Given the description of an element on the screen output the (x, y) to click on. 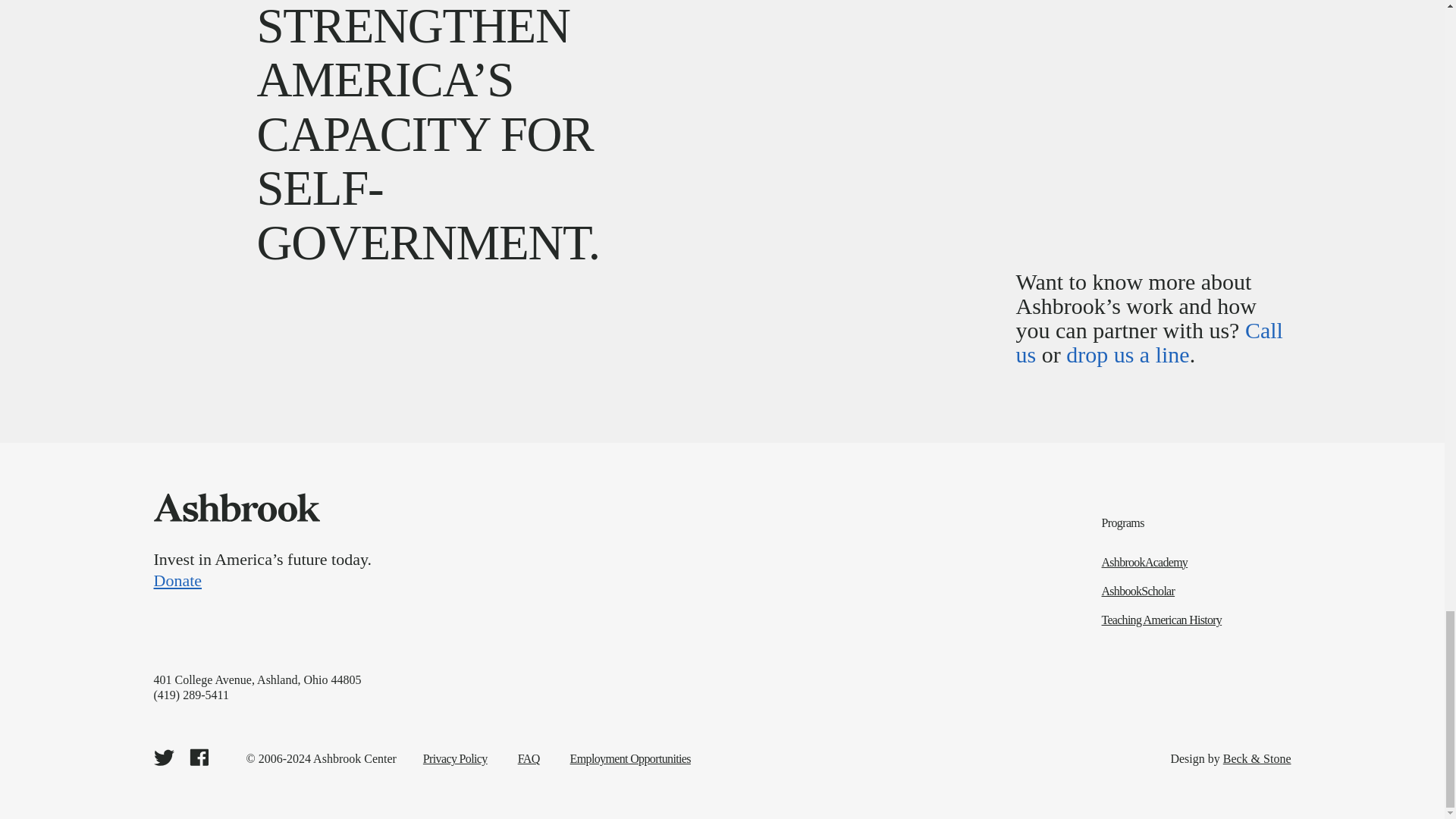
AshbookScholar (1196, 590)
FAQ (529, 758)
Call us (1149, 341)
Ashbrook Center (235, 507)
drop us a line (1127, 354)
AshbrookAcademy (1196, 562)
Donate (531, 579)
Employment Opportunities (630, 758)
Privacy Policy (455, 758)
Teaching American History (1196, 620)
